Given the description of an element on the screen output the (x, y) to click on. 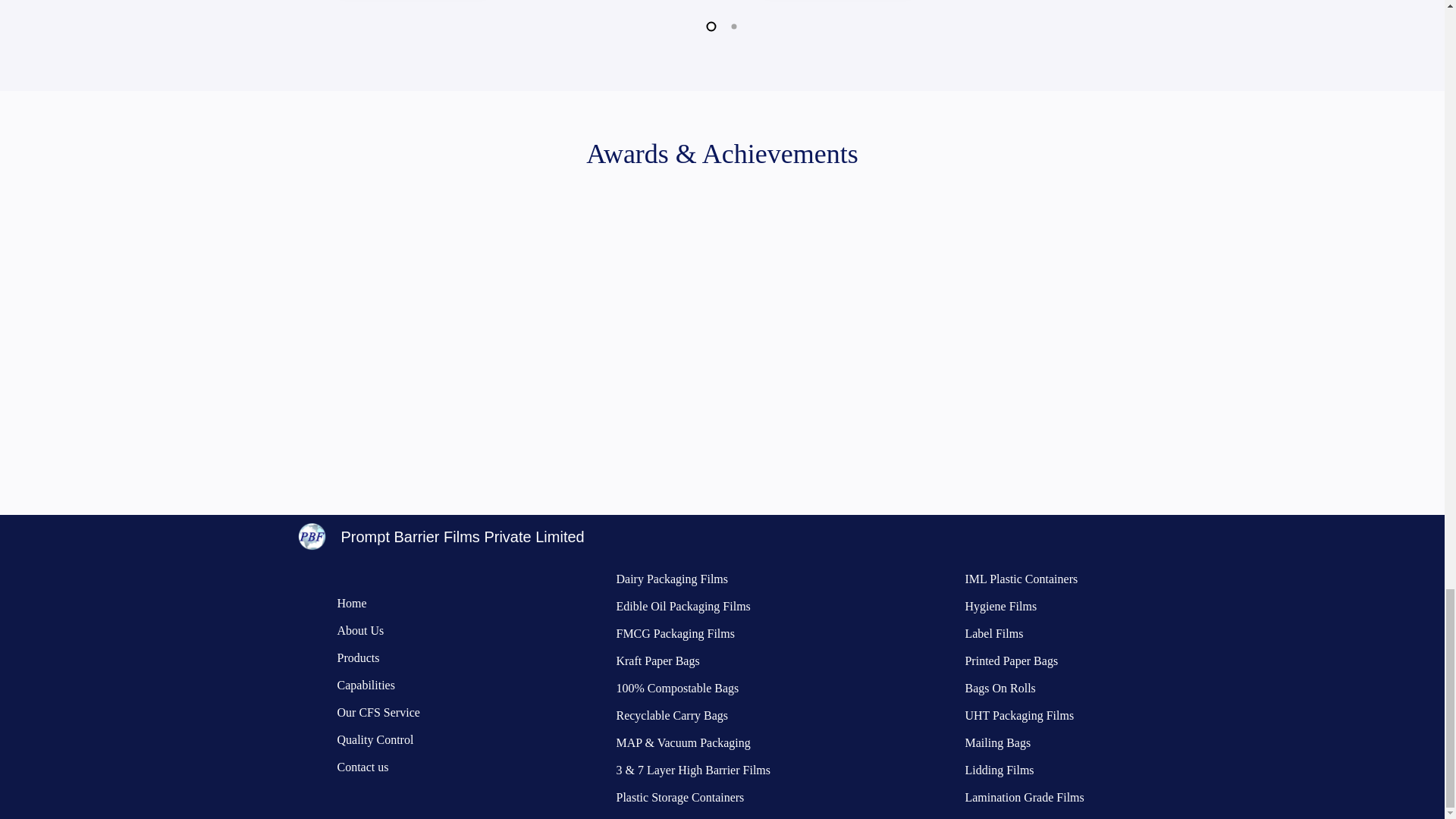
Home (351, 603)
Our CFS Service (377, 712)
About Us (360, 630)
Capabilities (365, 684)
pbf-logo (310, 536)
Products (357, 657)
